Given the description of an element on the screen output the (x, y) to click on. 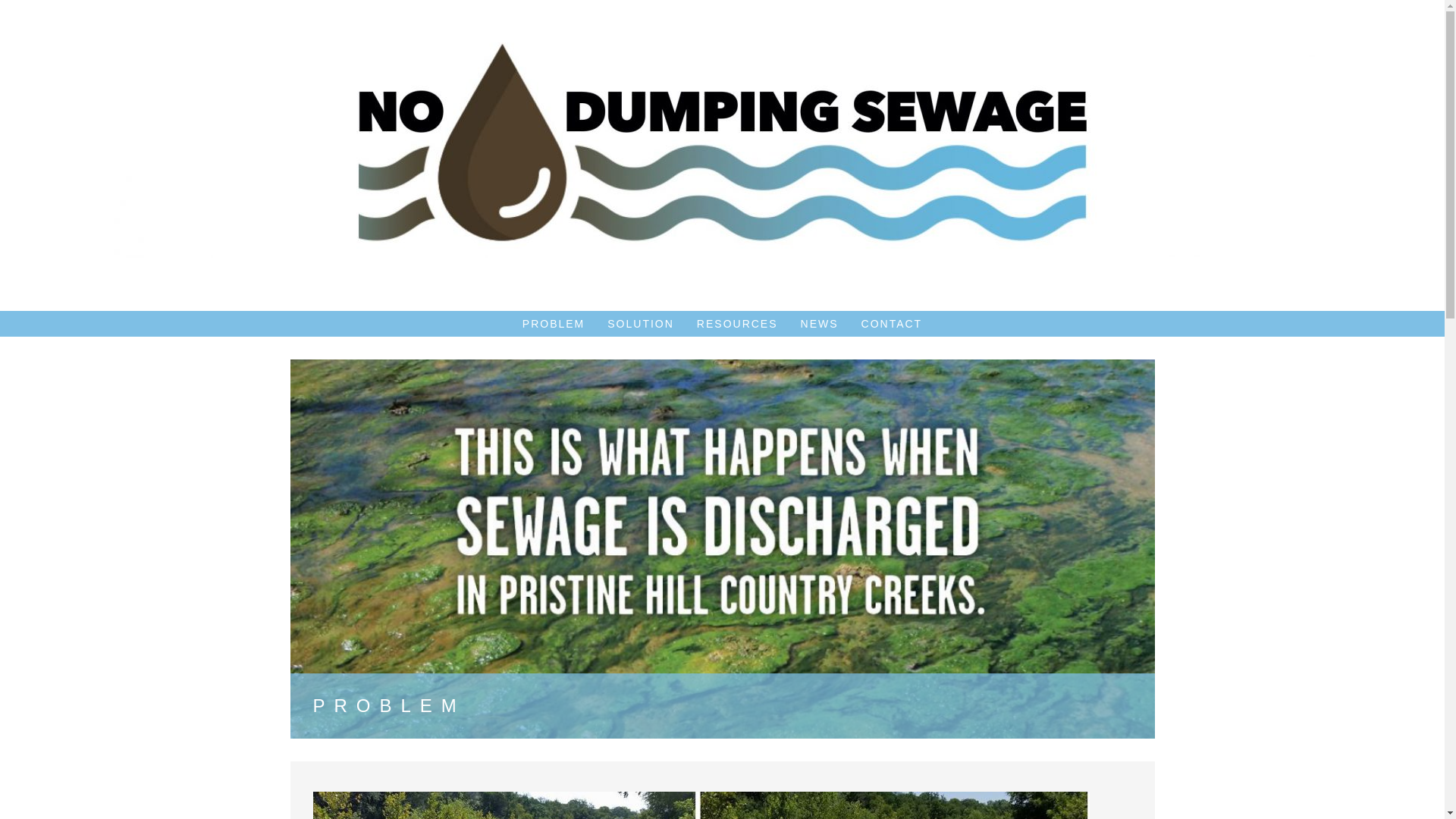
SOLUTION (640, 323)
RESOURCES (737, 323)
PROBLEM (553, 323)
NEWS (819, 323)
CONTACT (892, 323)
